Given the description of an element on the screen output the (x, y) to click on. 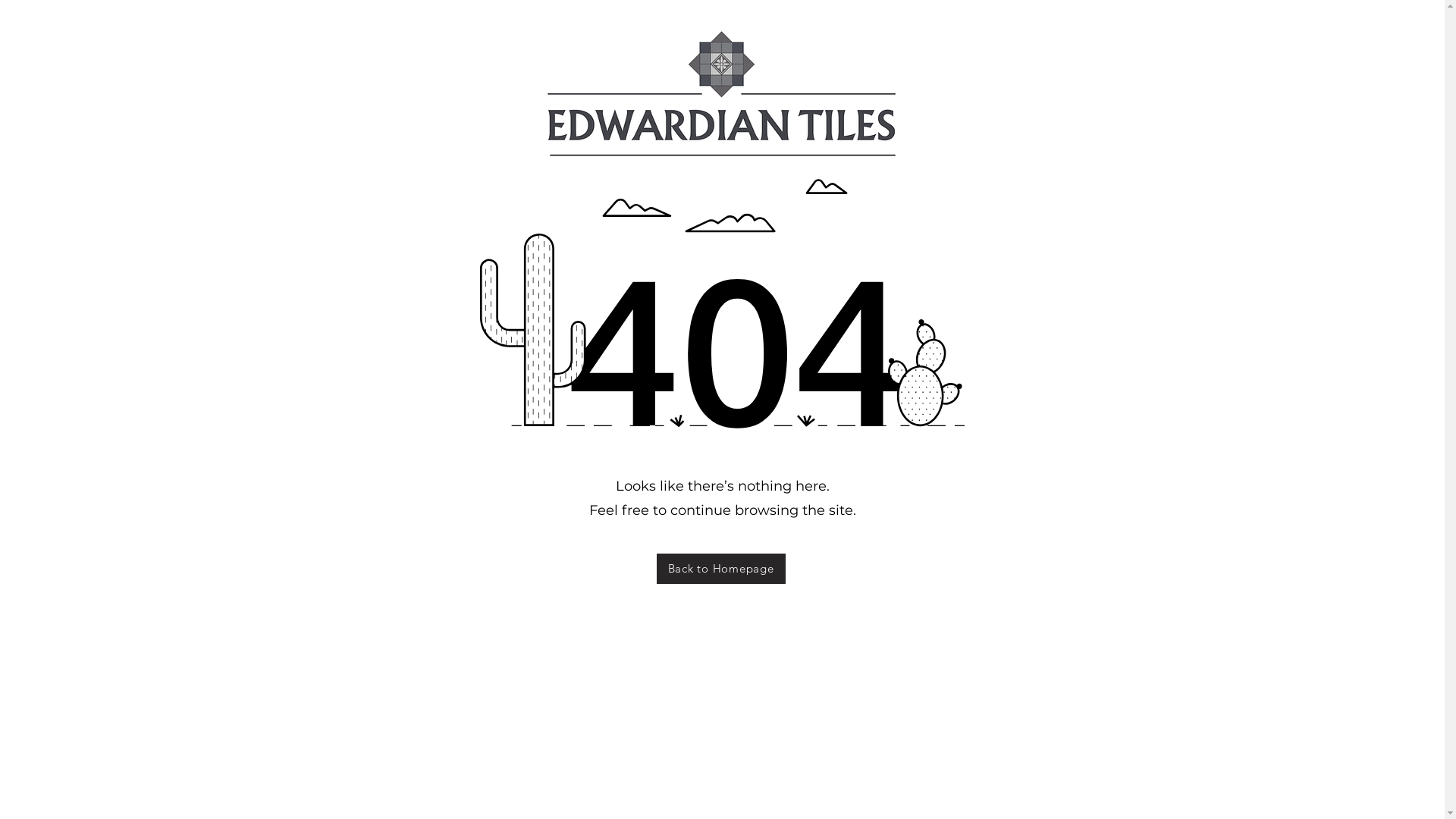
Back to Homepage Element type: text (720, 568)
ET_Logo_CMYK_Vector.png Element type: hover (721, 93)
